Given the description of an element on the screen output the (x, y) to click on. 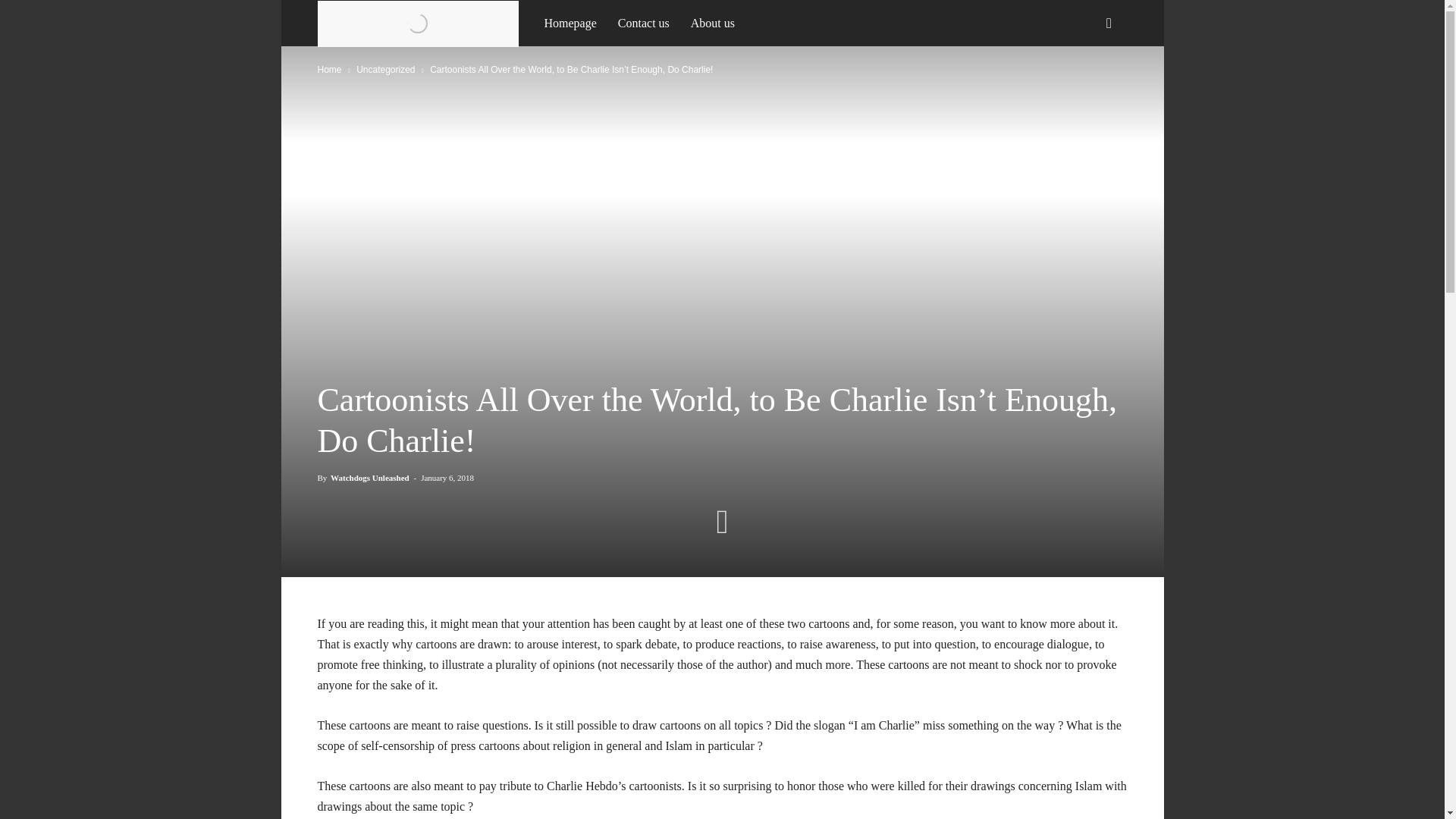
Home (328, 69)
Contact us (643, 22)
Watchdogs Unleashed (424, 22)
View all posts in Uncategorized (385, 69)
Watchdogs Unleashed (369, 477)
Uncategorized (385, 69)
Search (1085, 88)
Homepage (570, 22)
About us (712, 22)
